Given the description of an element on the screen output the (x, y) to click on. 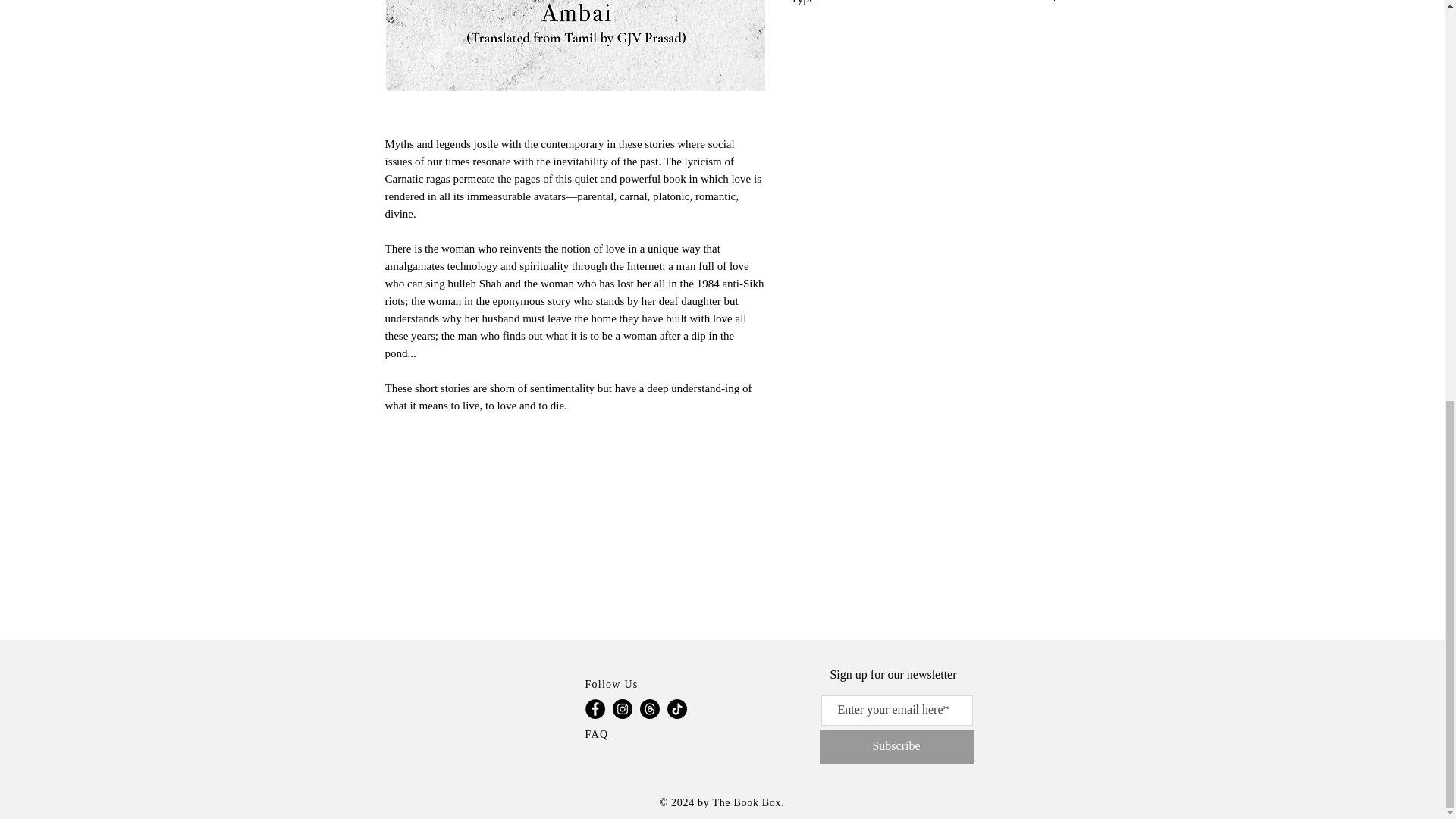
Subscribe (895, 746)
FAQ (596, 734)
Type (924, 2)
